Given the description of an element on the screen output the (x, y) to click on. 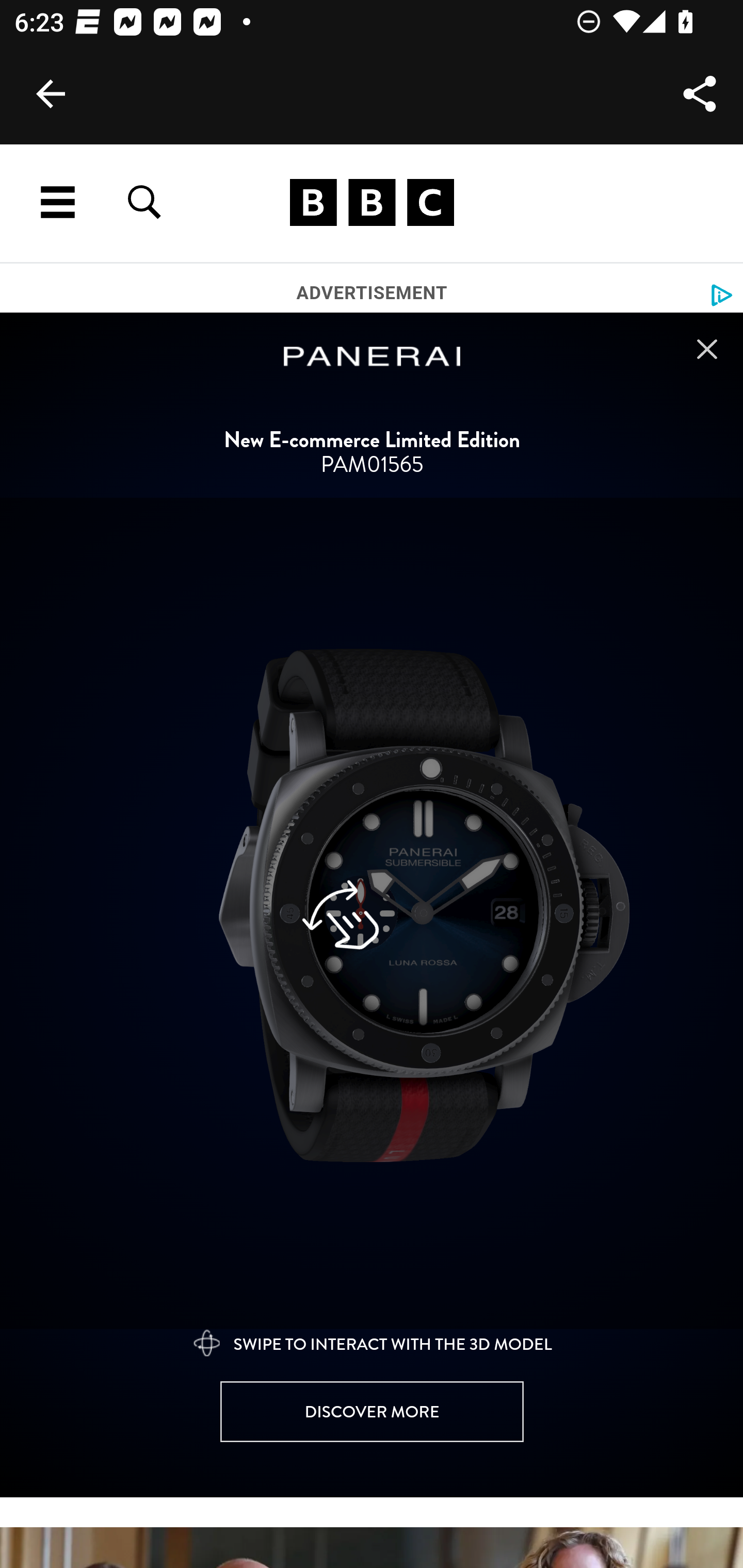
Back (50, 93)
Share (699, 93)
www.bbc (371, 203)
DISCOVER MORE (371, 1412)
